Given the description of an element on the screen output the (x, y) to click on. 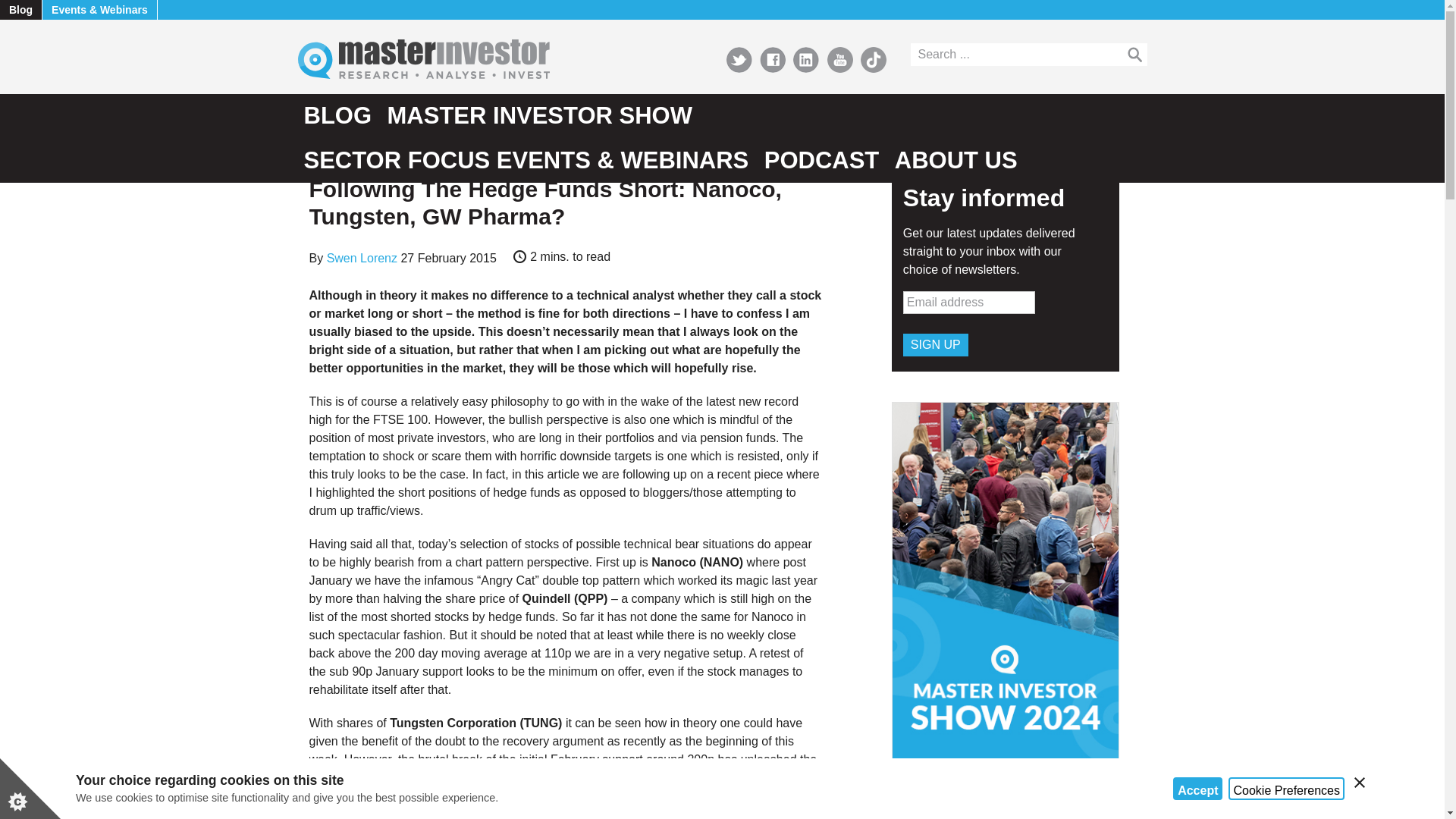
Twitter (739, 59)
TikTok (873, 59)
BLOG (337, 116)
ABOUT US (955, 160)
Swen Lorenz (361, 257)
Go to the Latest category archives. (363, 150)
Sign up (935, 344)
Facebook (773, 59)
HOME (322, 150)
Posts by Swen Lorenz (361, 257)
Go to Master Investor. (322, 150)
PODCAST (821, 160)
Master Investor (473, 58)
LATEST (363, 150)
MASTER INVESTOR SHOW (539, 116)
